Given the description of an element on the screen output the (x, y) to click on. 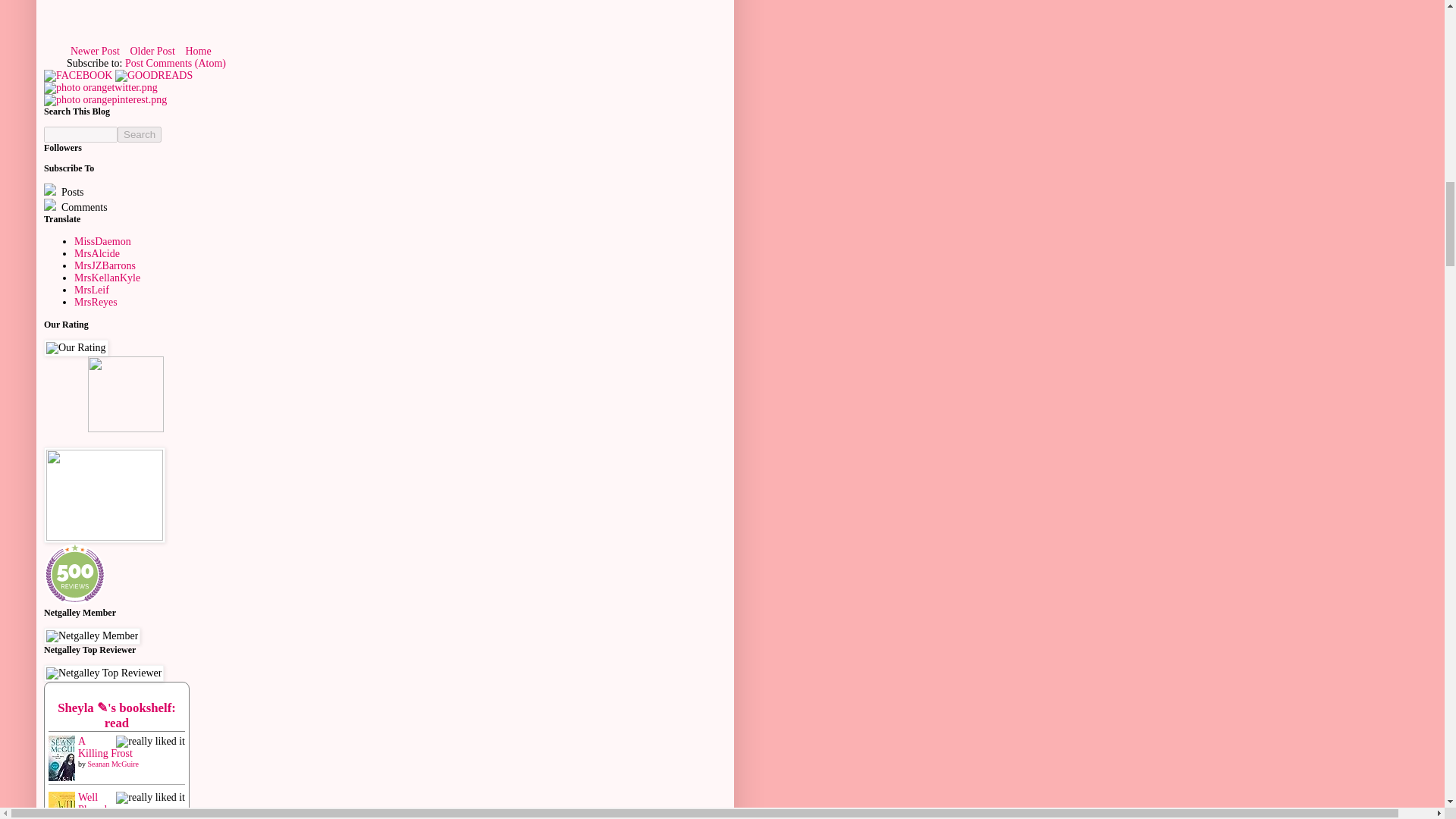
MissDaemon (102, 241)
Search (139, 134)
Search (139, 134)
Newer Post (94, 50)
search (139, 134)
Older Post (152, 50)
search (80, 134)
Older Post (152, 50)
Search (139, 134)
500 Book Reviews (73, 573)
Newer Post (94, 50)
Home (197, 50)
